Given the description of an element on the screen output the (x, y) to click on. 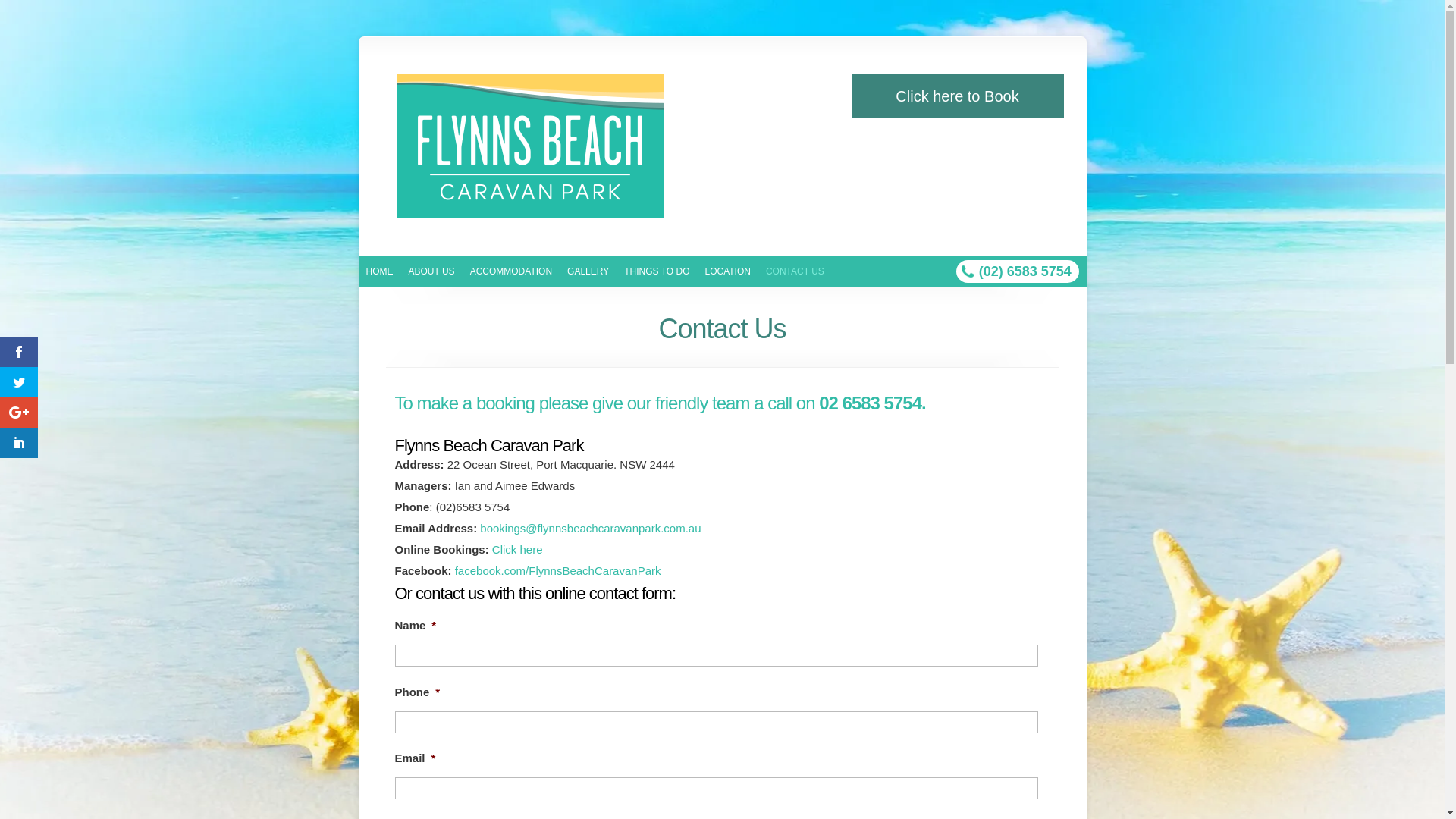
THINGS TO DO Element type: text (656, 271)
GALLERY Element type: text (587, 271)
ABOUT US Element type: text (430, 271)
LOCATION Element type: text (726, 271)
ACCOMMODATION Element type: text (511, 271)
(02) 6583 5754 Element type: text (1025, 271)
facebook.com/FlynnsBeachCaravanPark Element type: text (558, 570)
Click here Element type: text (517, 548)
CONTACT US Element type: text (794, 271)
Click here to Book Element type: text (956, 96)
HOME Element type: text (378, 271)
bookings@flynnsbeachcaravanpark.com.au Element type: text (590, 527)
